Given the description of an element on the screen output the (x, y) to click on. 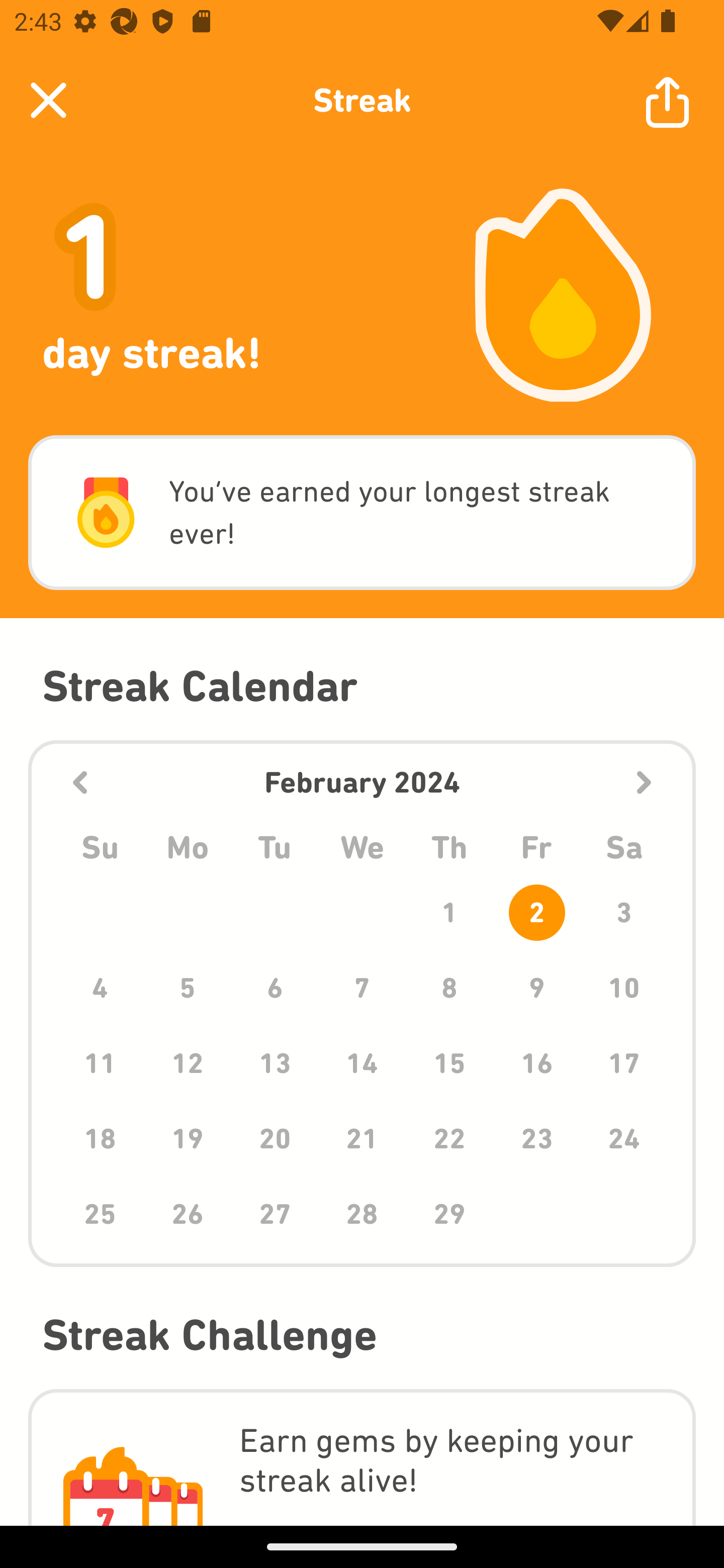
You’ve earned your longest streak ever! (361, 512)
